Given the description of an element on the screen output the (x, y) to click on. 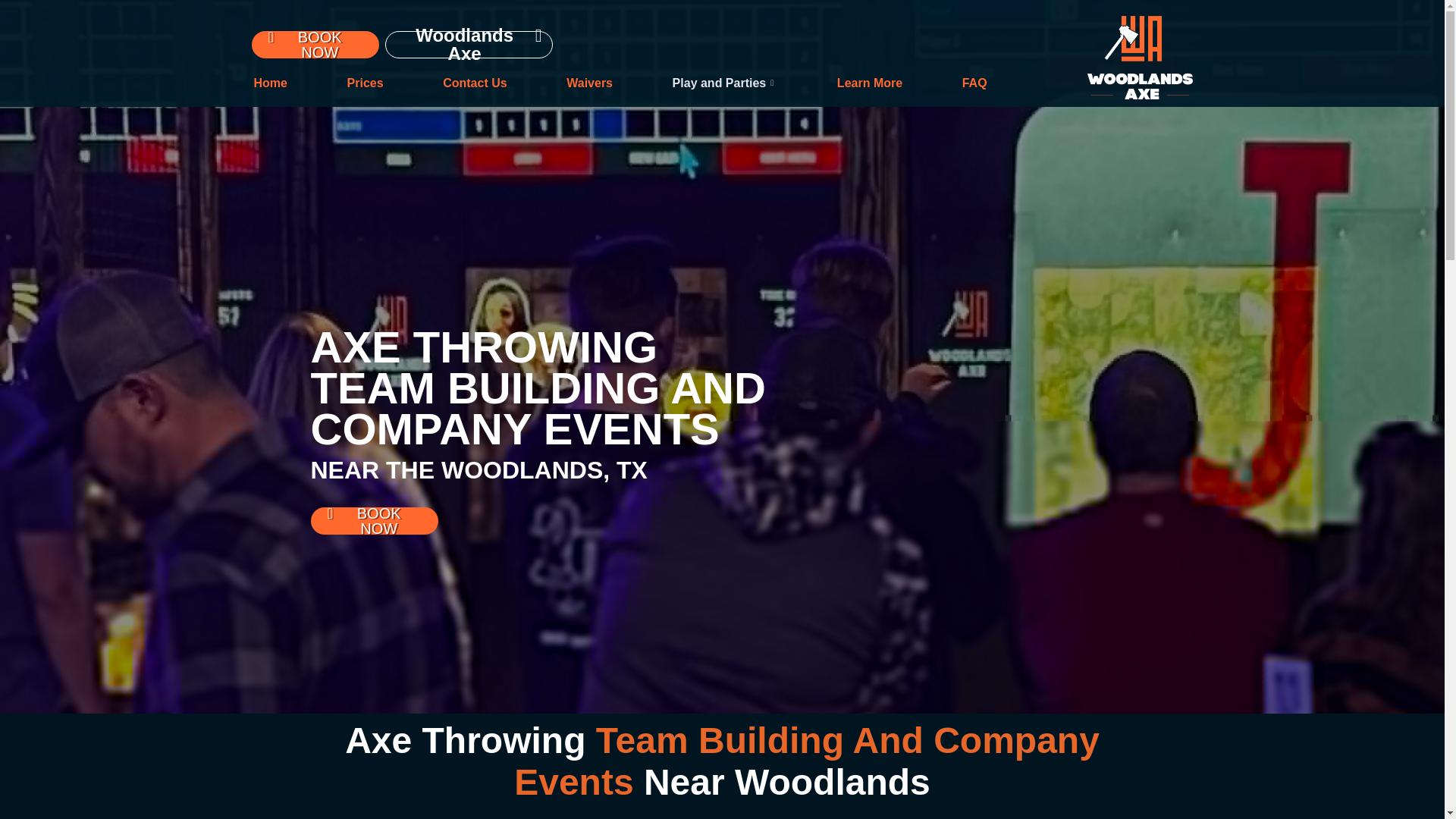
BOOK NOW (314, 43)
FAQ (974, 83)
Home (270, 83)
Prices (365, 83)
Play and Parties (725, 83)
Learn More (869, 83)
Waivers (589, 83)
BOOK NOW (374, 520)
Woodlands Axe (469, 44)
Contact Us (474, 83)
